Given the description of an element on the screen output the (x, y) to click on. 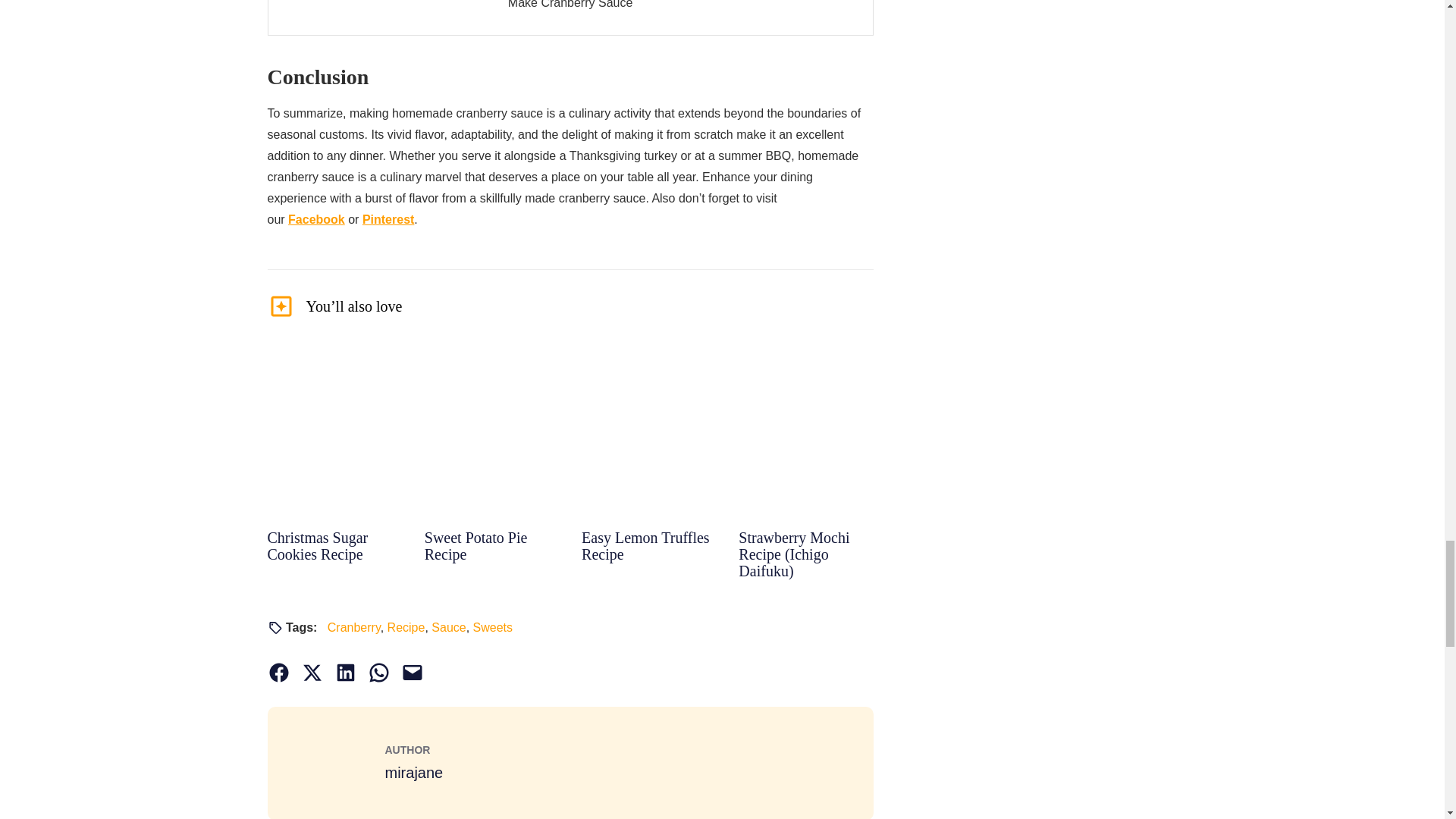
Facebook (316, 219)
